Given the description of an element on the screen output the (x, y) to click on. 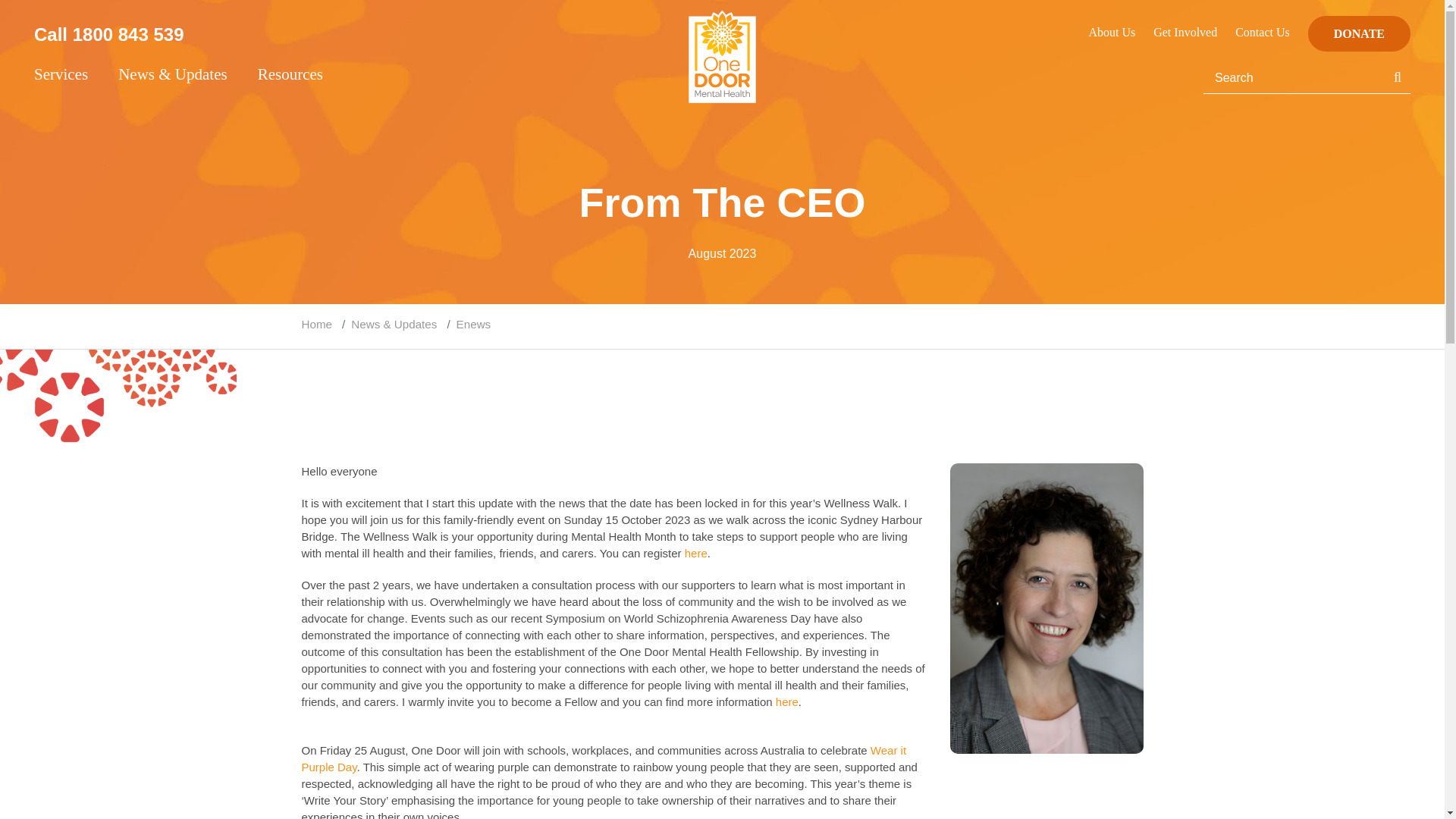
Enews (474, 324)
here (786, 701)
Get Involved (1185, 31)
Search (1295, 78)
Resources (301, 76)
Home (317, 324)
DONATE (1358, 33)
DONATE NOW (1358, 33)
Services (75, 76)
Contact Us (1262, 31)
About Us (1111, 31)
Wear it Purple Day (604, 758)
for Information and Support call 1800 843 539 (313, 33)
here (695, 553)
